Given the description of an element on the screen output the (x, y) to click on. 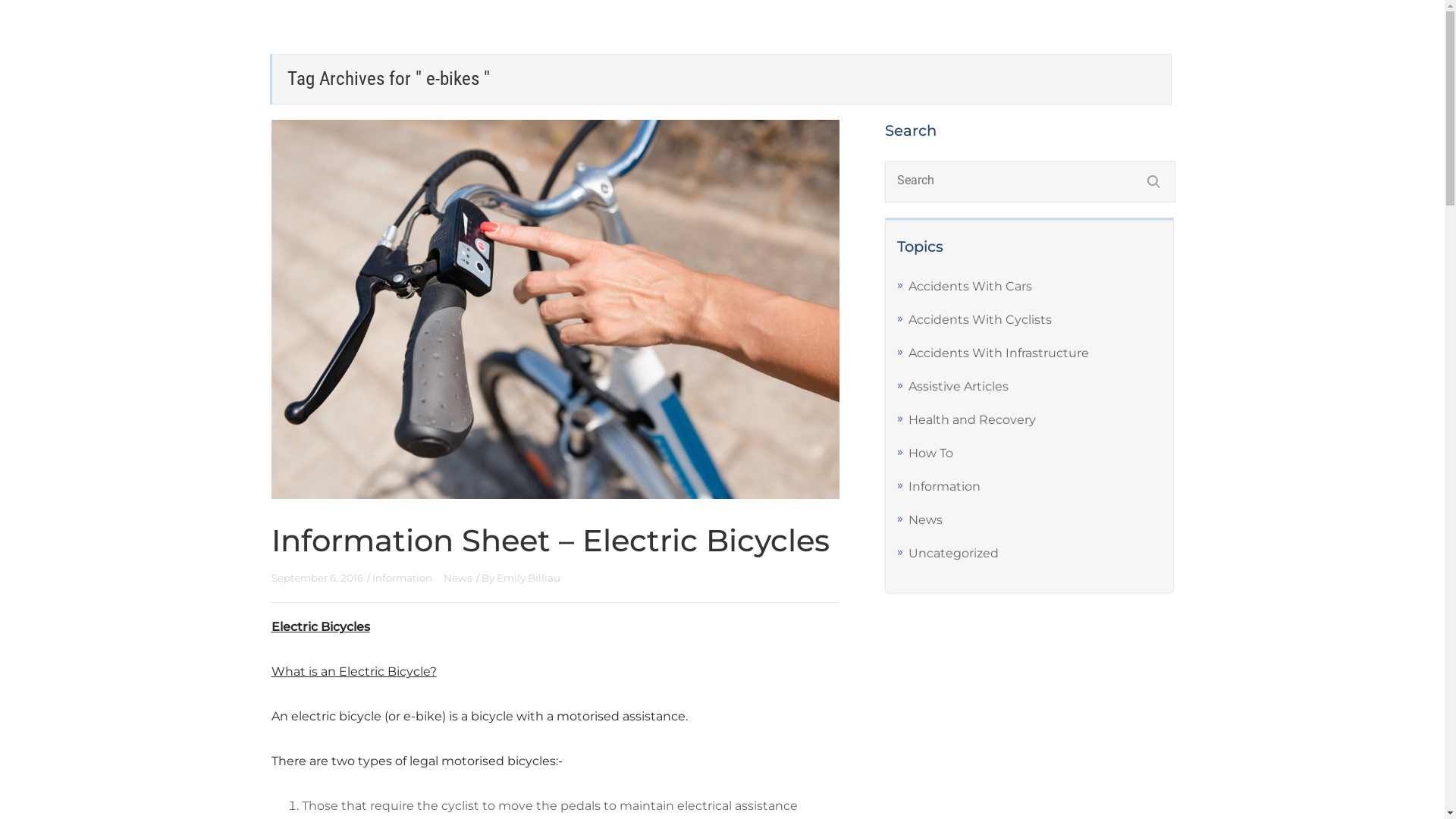
Accidents With Cars Element type: text (970, 286)
Accidents With Cyclists Element type: text (979, 319)
Assistive Articles Element type: text (958, 386)
Emily Billiau Element type: text (527, 577)
How To Element type: text (930, 452)
Uncategorized Element type: text (953, 553)
shutterstock_401655706 (1) Element type: hover (555, 308)
Health and Recovery Element type: text (971, 419)
Information Element type: text (944, 486)
Information Element type: text (402, 577)
News Element type: text (456, 577)
Accidents With Infrastructure Element type: text (998, 352)
News Element type: text (925, 519)
